Given the description of an element on the screen output the (x, y) to click on. 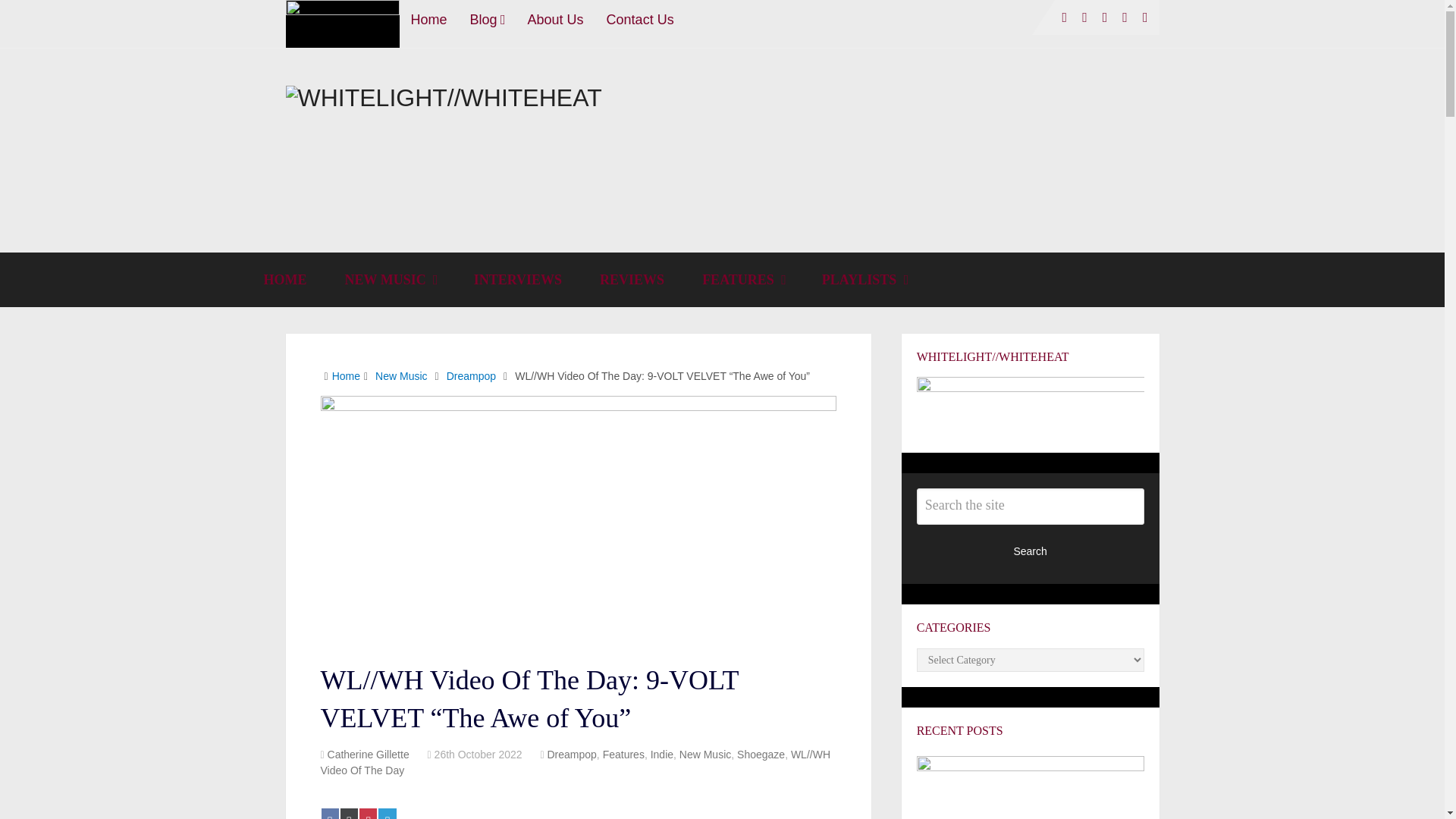
HOME (284, 279)
Contact Us (640, 19)
View all posts in Indie (661, 754)
View all posts in Shoegaze (760, 754)
View all posts in Dreampop (571, 754)
View all posts in New Music (704, 754)
Home (428, 19)
About Us (555, 19)
Posts by Catherine Gillette (368, 754)
REVIEWS (631, 279)
